Given the description of an element on the screen output the (x, y) to click on. 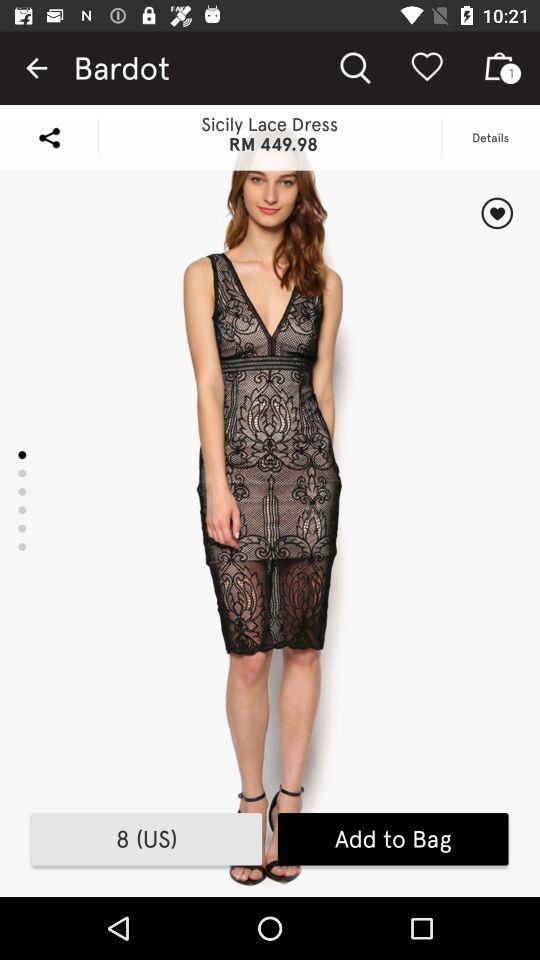
click the icon next to the 8 (us) (392, 839)
